Given the description of an element on the screen output the (x, y) to click on. 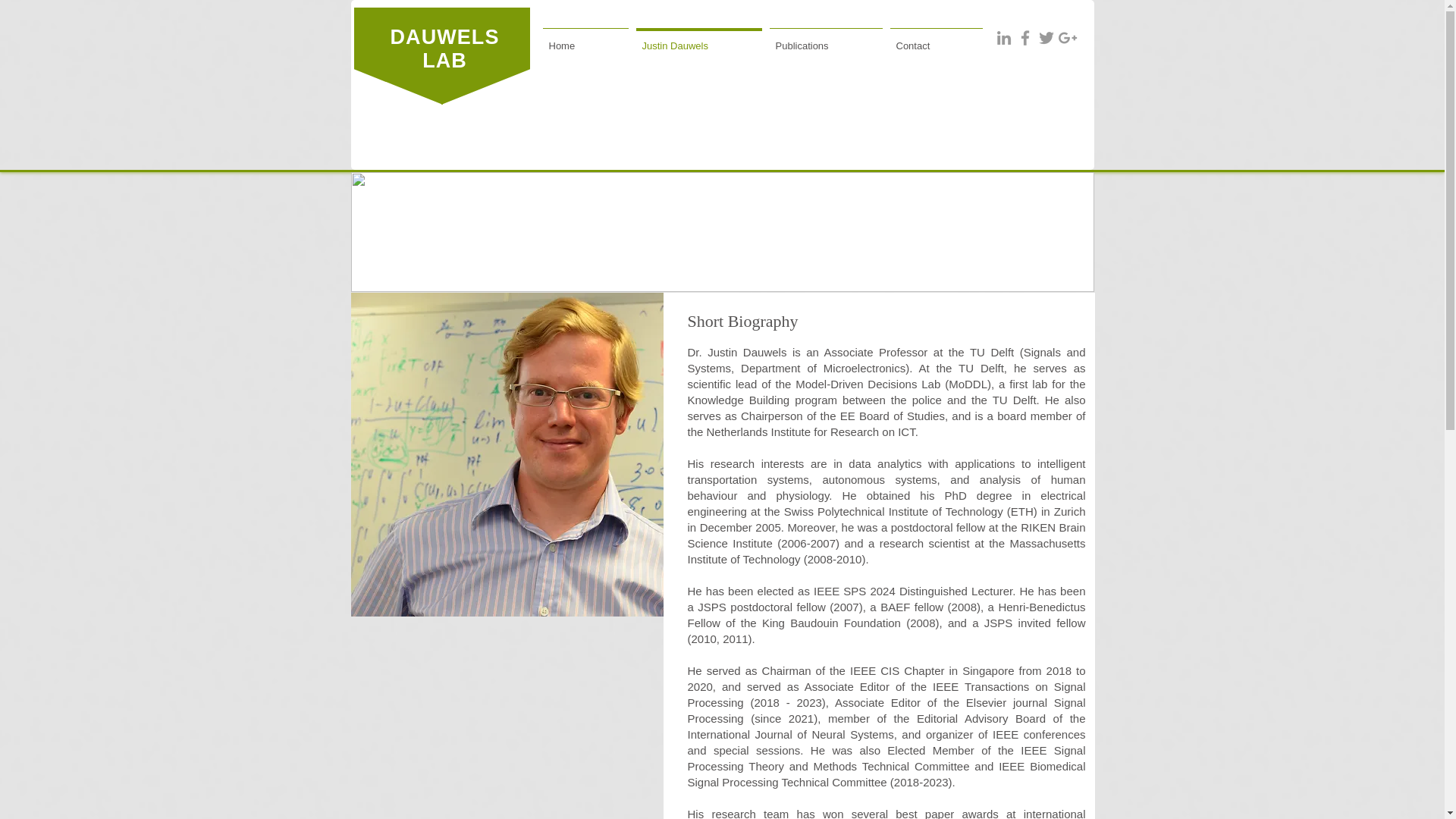
DAUWELS LAB (444, 48)
Asst Prof Justin Dauwels with his algorithms.jpg (506, 454)
Home (584, 38)
Contact (935, 38)
Justin Dauwels (698, 38)
Publications (825, 38)
